Given the description of an element on the screen output the (x, y) to click on. 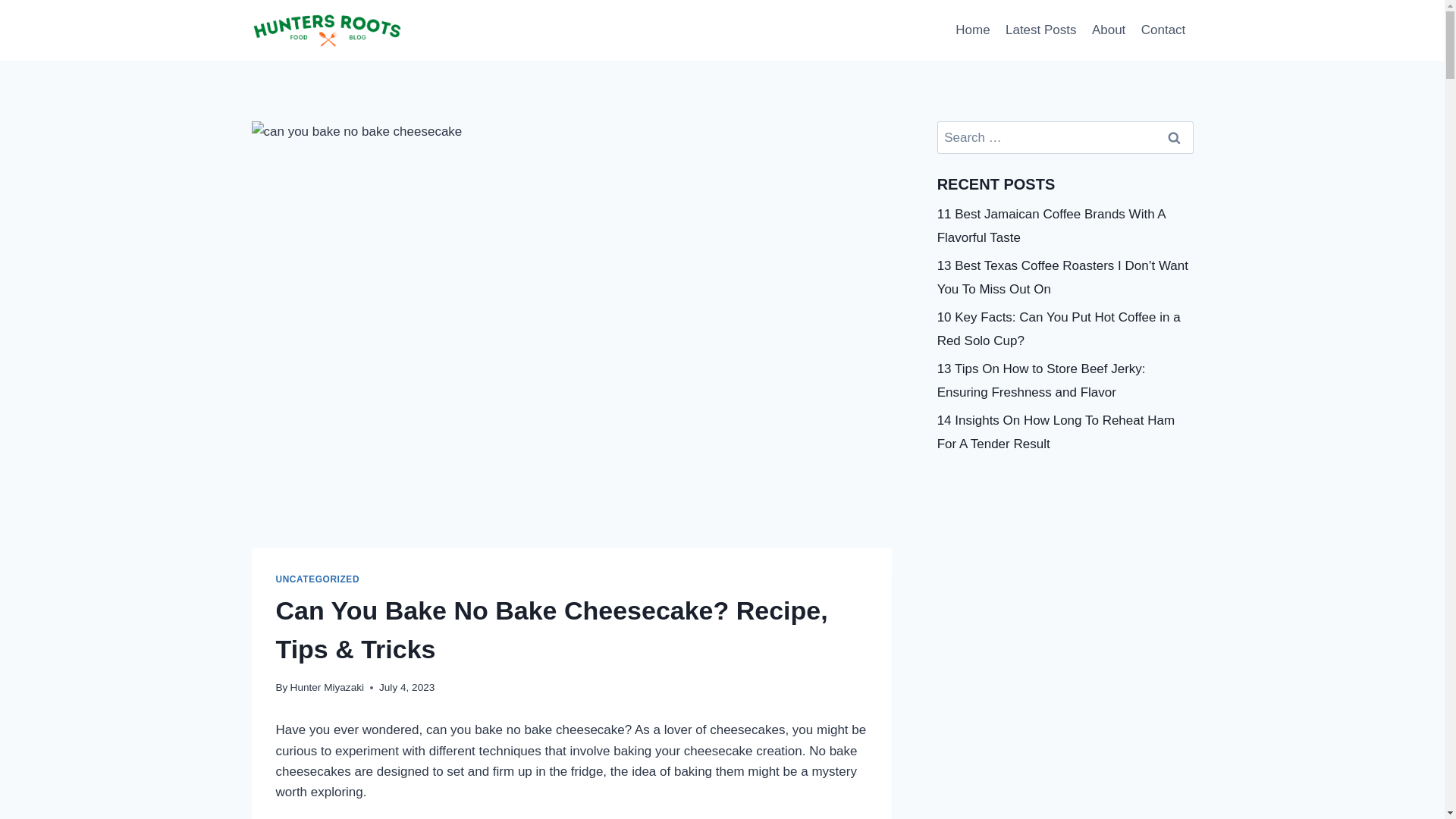
Contact (1163, 30)
Home (972, 30)
Latest Posts (1040, 30)
About (1109, 30)
UNCATEGORIZED (317, 579)
Hunter Miyazaki (326, 686)
Search (1174, 137)
Search (1174, 137)
